Given the description of an element on the screen output the (x, y) to click on. 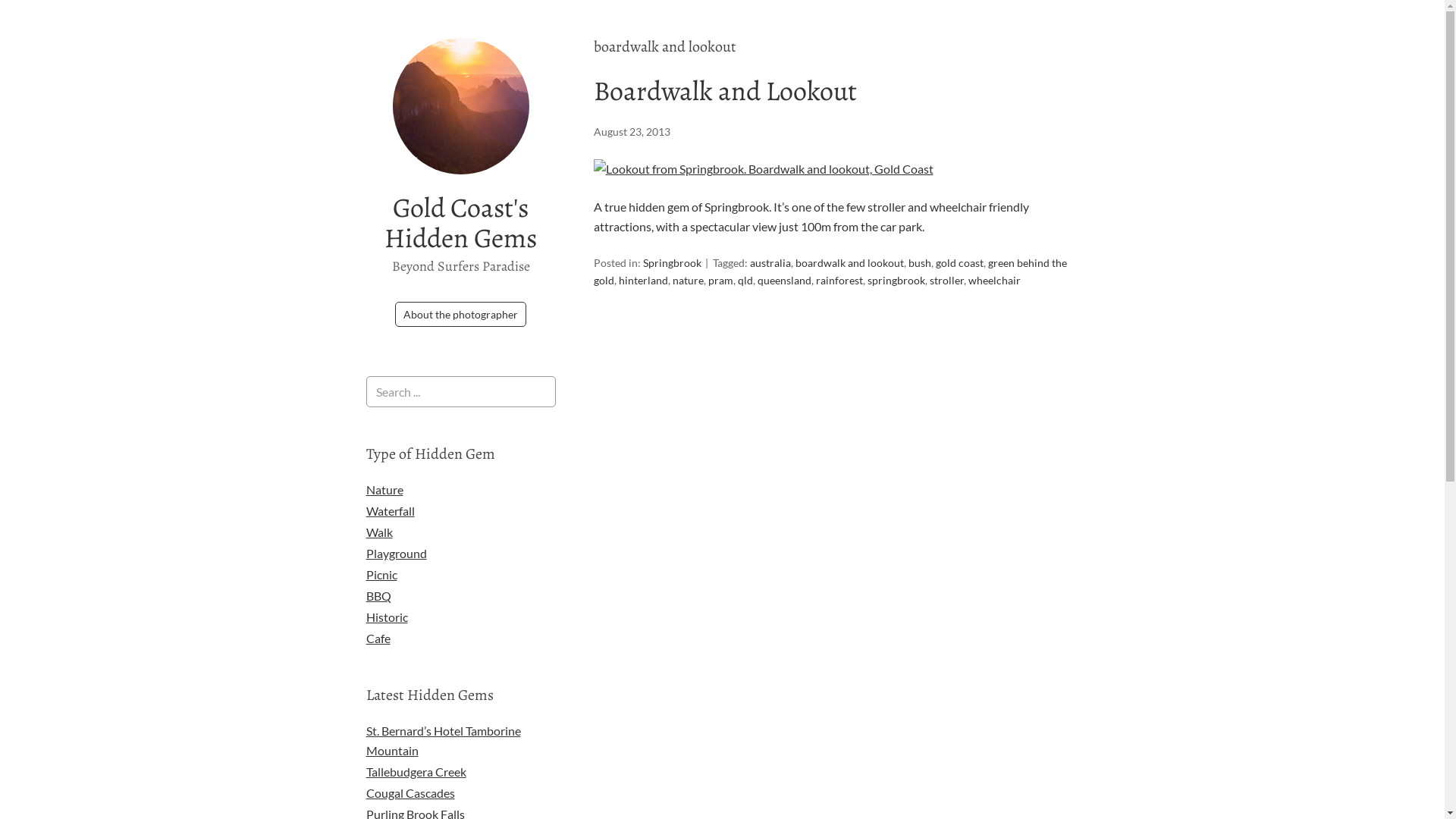
Springbrook Element type: text (672, 262)
pram Element type: text (720, 279)
nature Element type: text (686, 279)
Playground Element type: text (395, 553)
Search for: Element type: hover (460, 391)
green behind the gold Element type: text (829, 271)
Nature Element type: text (383, 489)
Historic Element type: text (386, 616)
Waterfall Element type: text (389, 510)
Boardwalk and Lookout Element type: hover (762, 168)
queensland Element type: text (783, 279)
boardwalk and lookout Element type: text (848, 262)
Boardwalk and Lookout Element type: text (724, 90)
Picnic Element type: text (380, 574)
Walk Element type: text (378, 531)
hinterland Element type: text (643, 279)
australia Element type: text (769, 262)
Tallebudgera Creek Element type: text (415, 771)
Gold Coast's Hidden Gems Element type: text (460, 222)
Search Element type: text (0, 0)
About the photographer Element type: text (460, 313)
rainforest Element type: text (838, 279)
springbrook Element type: text (896, 279)
stroller Element type: text (946, 279)
Cafe Element type: text (377, 637)
bush Element type: text (919, 262)
wheelchair Element type: text (993, 279)
gold coast Element type: text (959, 262)
BBQ Element type: text (377, 595)
qld Element type: text (744, 279)
Cougal Cascades Element type: text (409, 792)
